Given the description of an element on the screen output the (x, y) to click on. 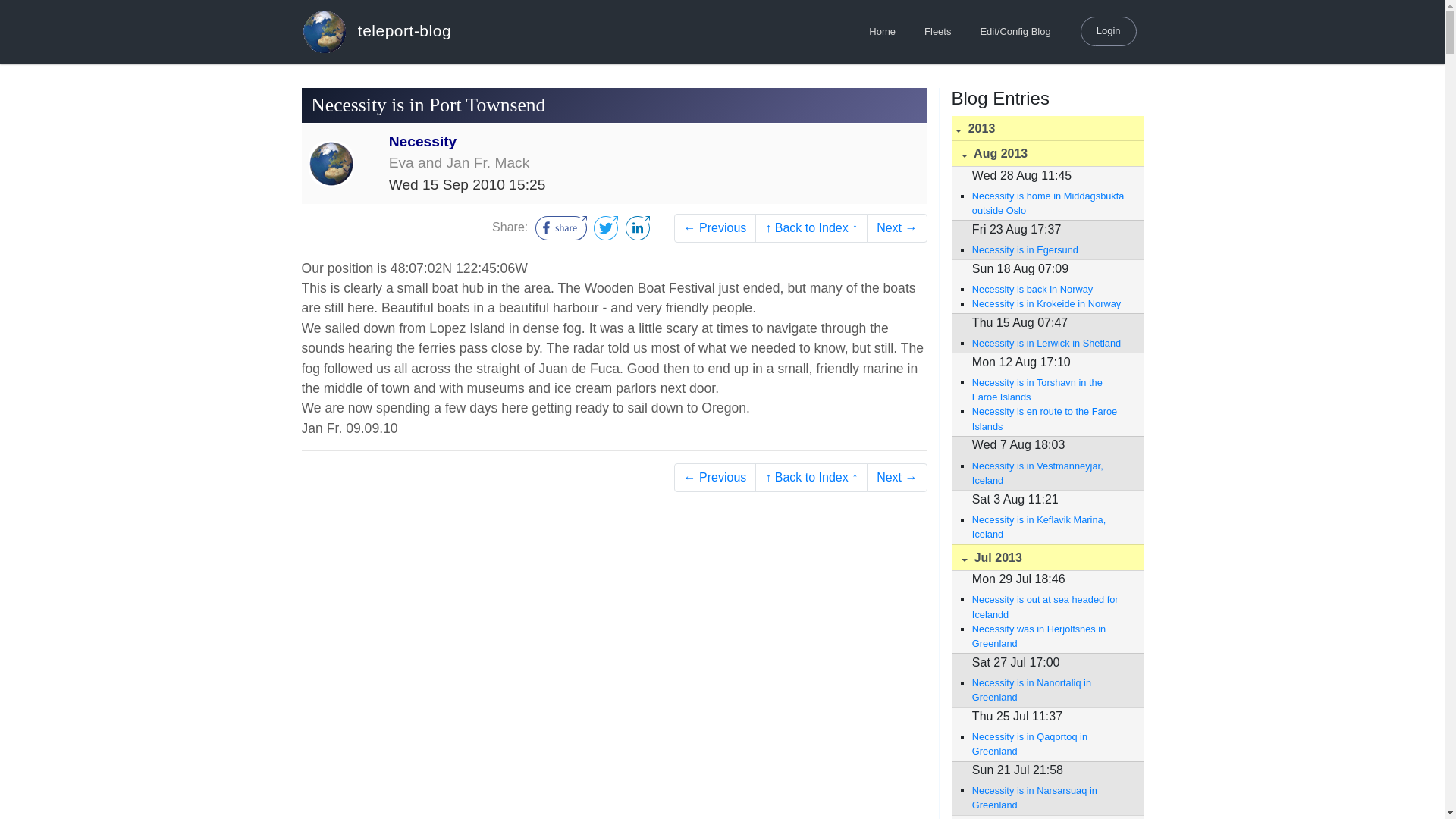
Necessity is in Egersund (1050, 249)
Login (1108, 30)
Necessity is in Vestmanneyjar, Iceland (1050, 472)
2013 (1046, 128)
Necessity is home in Middagsbukta outside Oslo (1050, 203)
Necessity is in Torshavn in the Faroe Islands (1050, 389)
Necessity was in Herjolfsnes in Greenland (1050, 635)
Necessity is back in Norway (1050, 288)
Necessity is in Krokeide in Norway (1050, 303)
Necessity is en route to the Faroe Islands (1050, 418)
teleport-blog (376, 31)
Necessity is in Narsarsuaq in Greenland (1050, 797)
Necessity is out at sea headed for Icelandd (1050, 606)
Aug 2013 (1046, 153)
Necessity is in Nanortaliq in Greenland (1050, 689)
